Given the description of an element on the screen output the (x, y) to click on. 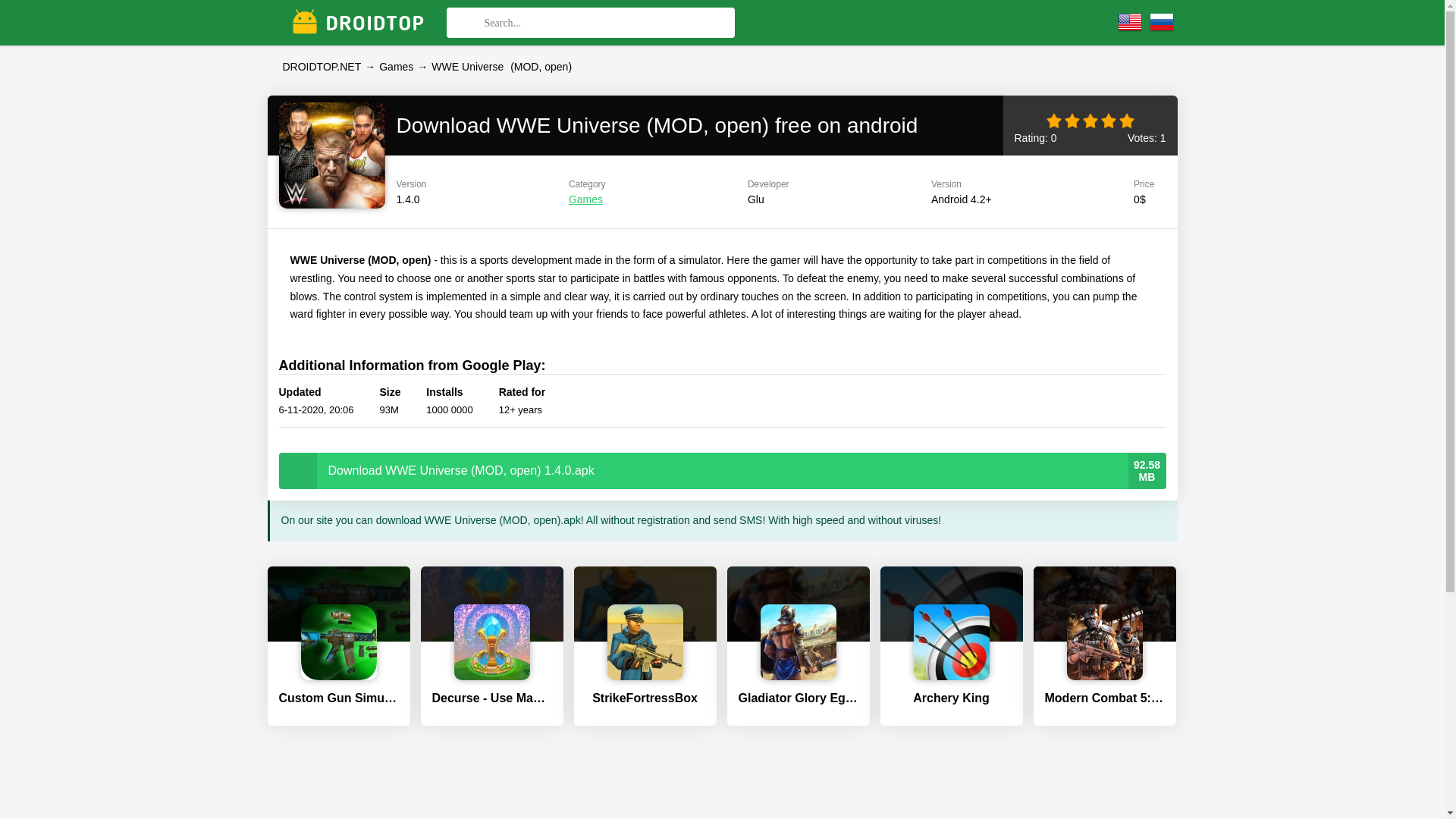
2 (1074, 123)
1 (1056, 123)
DROIDTOP.NET (321, 66)
Fair (1092, 123)
Good (1110, 123)
Games (585, 199)
Excellent (1129, 123)
3 (1092, 123)
Games (395, 66)
Useless (1056, 123)
Modded games for android (395, 66)
4 (1110, 123)
Poor (1074, 123)
5 (1129, 123)
Free games and apps for android (321, 66)
